Given the description of an element on the screen output the (x, y) to click on. 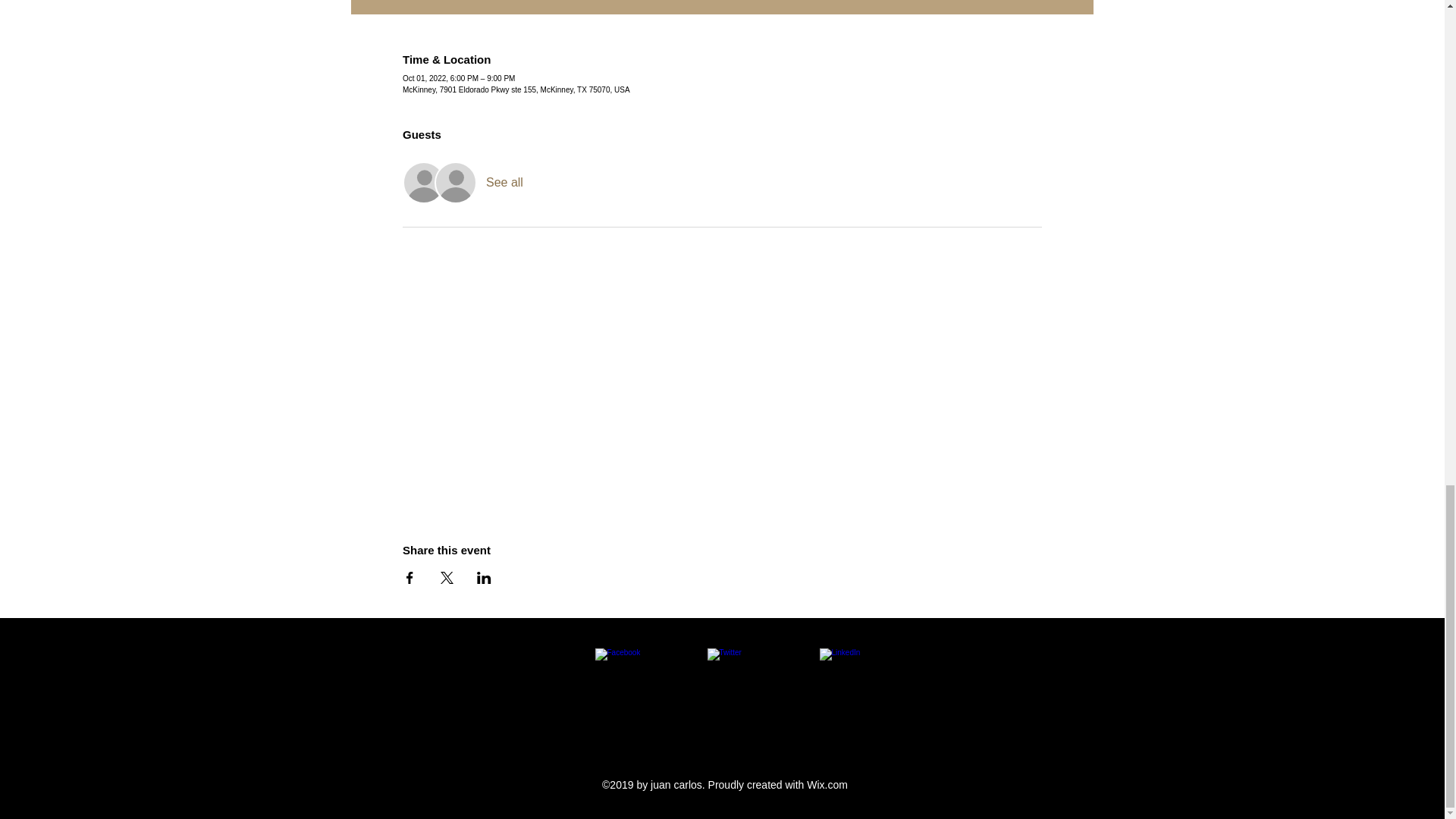
See all (504, 182)
